Given the description of an element on the screen output the (x, y) to click on. 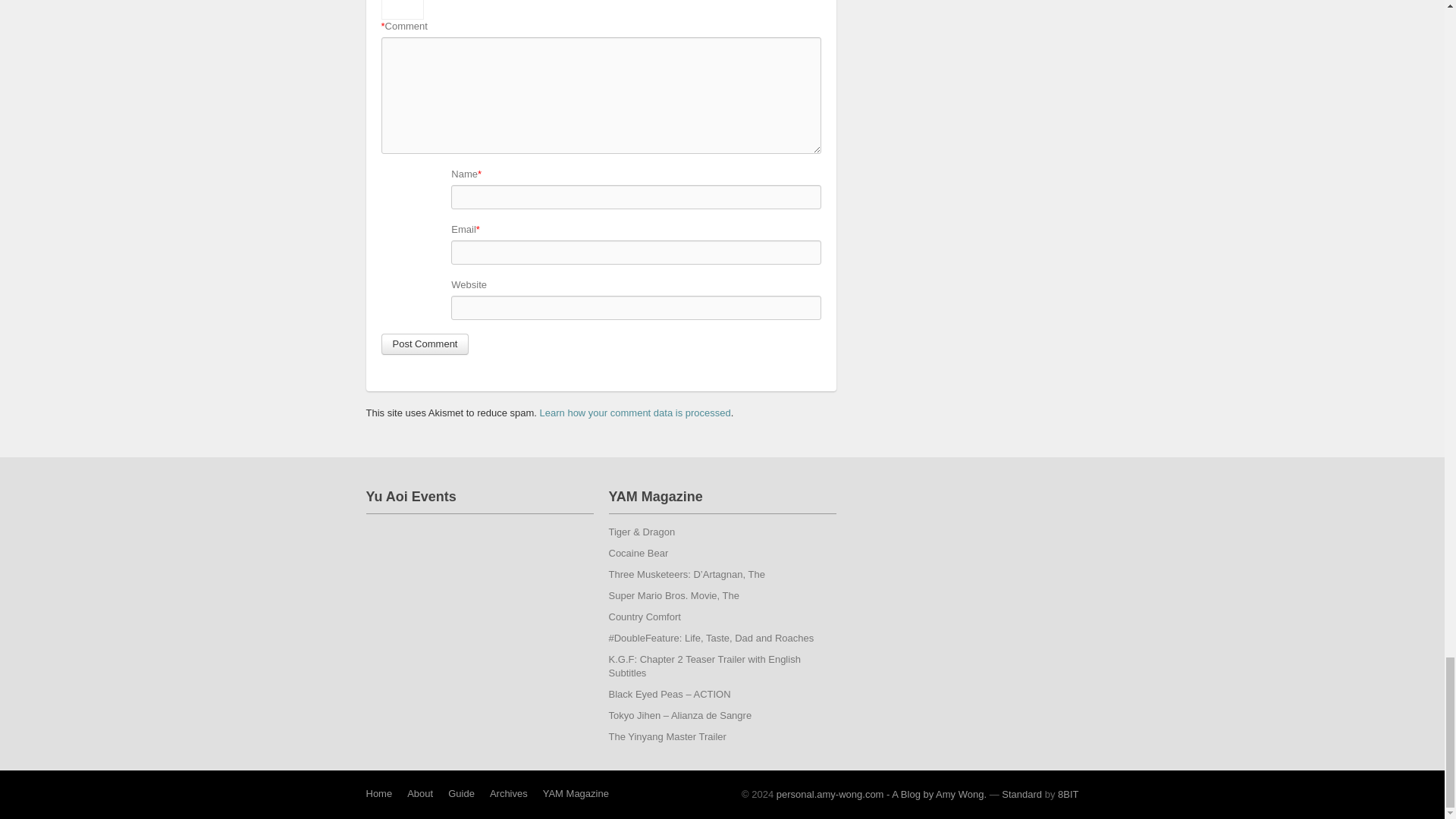
Post Comment (424, 343)
Post Comment (424, 343)
Learn how your comment data is processed (635, 412)
